Given the description of an element on the screen output the (x, y) to click on. 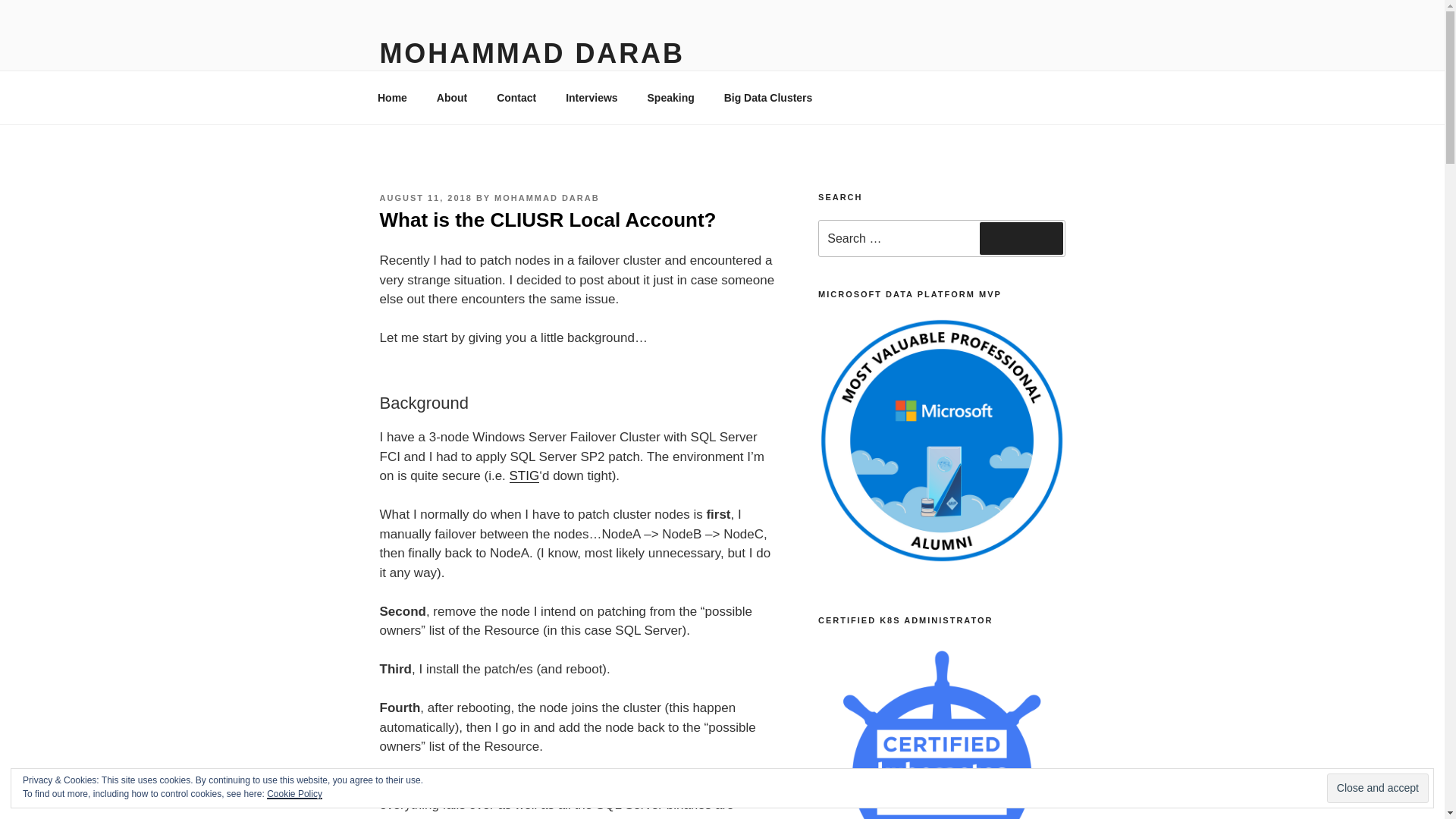
Speaking (670, 97)
Contact (516, 97)
Interviews (591, 97)
MOHAMMAD DARAB (547, 197)
AUGUST 11, 2018 (424, 197)
MOHAMMAD DARAB (531, 52)
Home (392, 97)
STIG (524, 475)
Close and accept (1377, 788)
Big Data Clusters (767, 97)
